Given the description of an element on the screen output the (x, y) to click on. 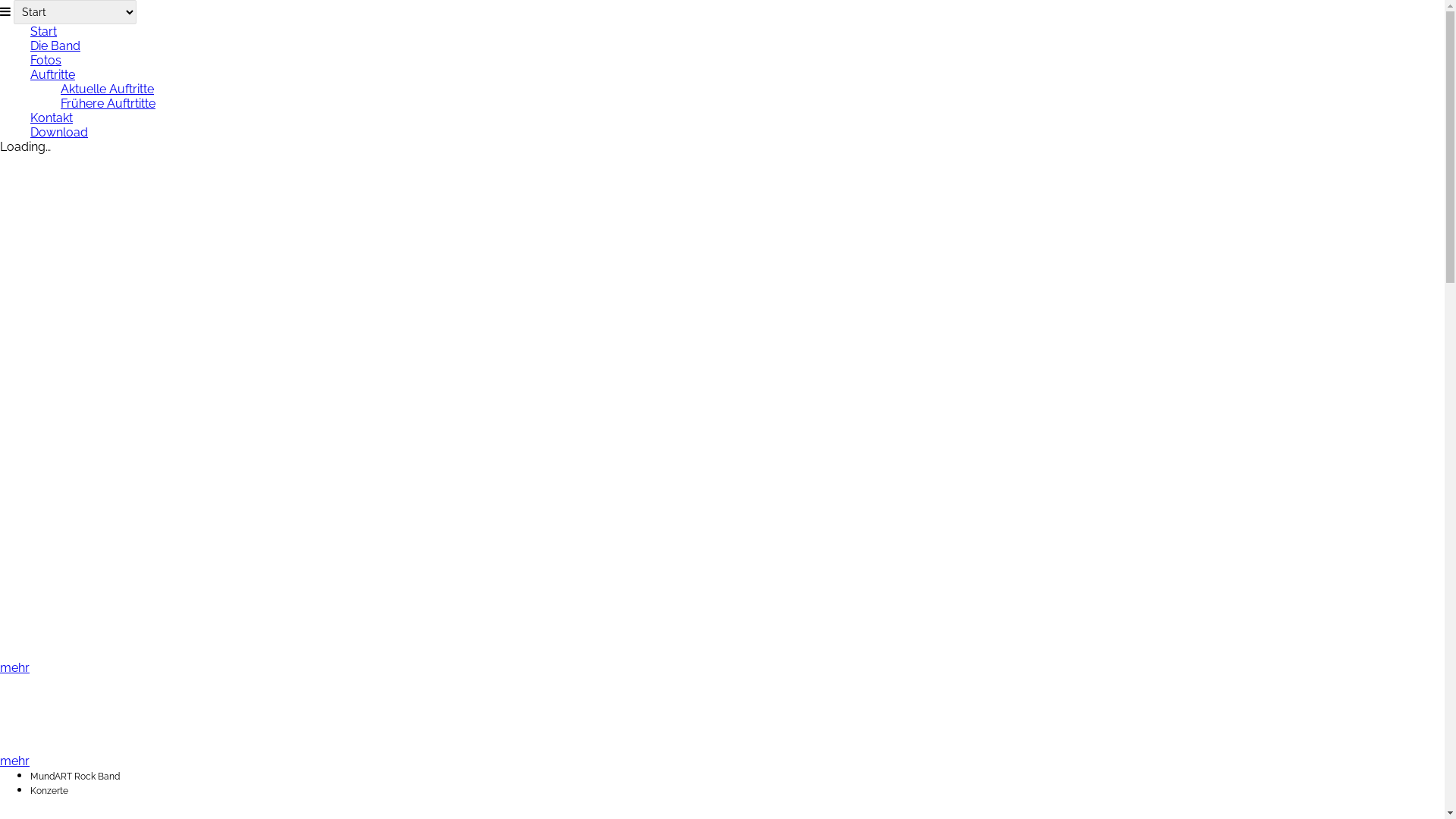
Kontakt Element type: text (51, 117)
Download Element type: text (58, 132)
Die Band Element type: text (55, 45)
mehr Element type: text (14, 667)
mehr Element type: text (14, 760)
Auftritte Element type: text (52, 74)
Start Element type: text (43, 31)
Fotos Element type: text (45, 60)
Aktuelle Auftritte Element type: text (106, 88)
